Given the description of an element on the screen output the (x, y) to click on. 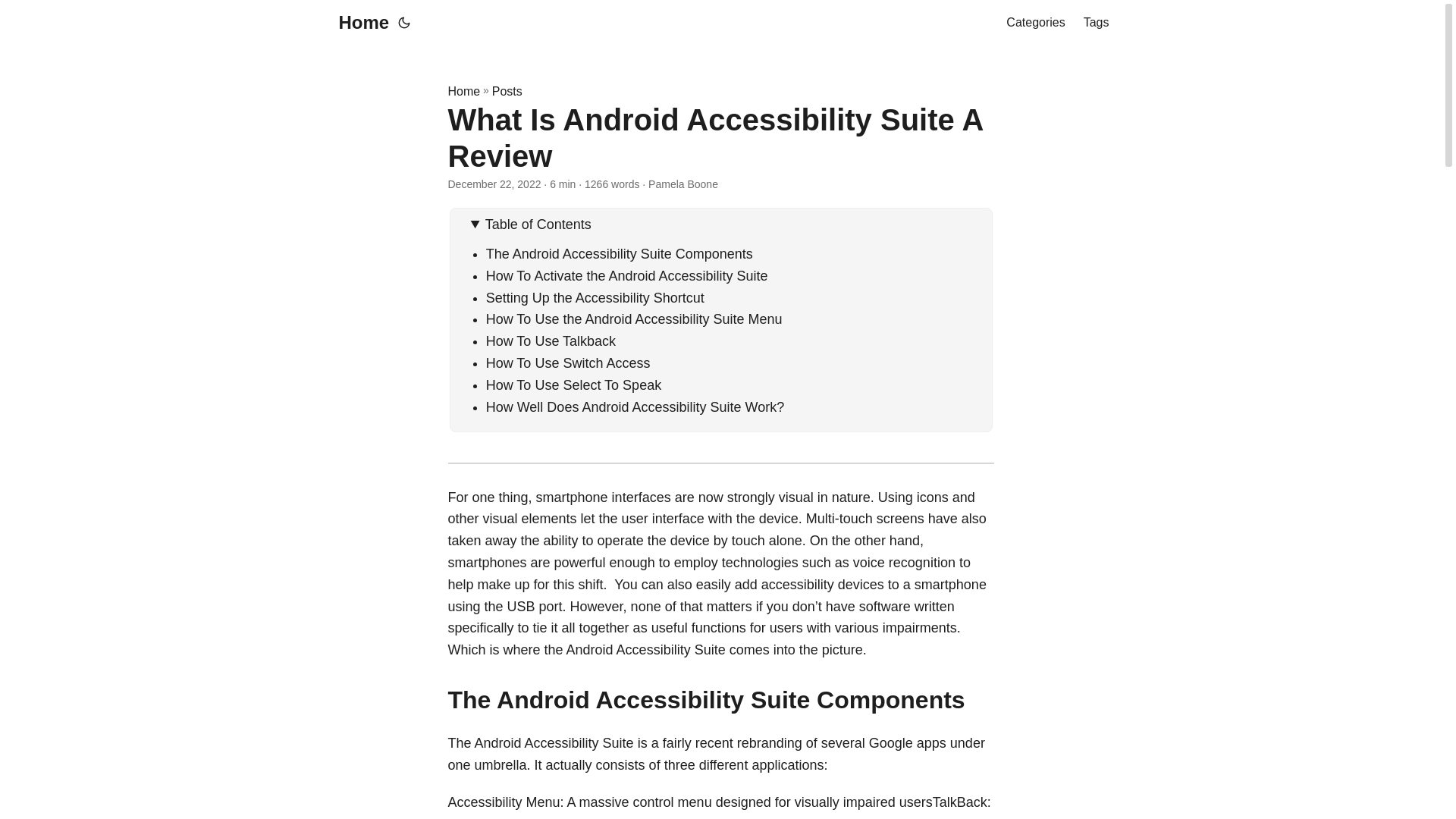
How To Use the Android Accessibility Suite Menu (634, 319)
How To Use Select To Speak (573, 385)
Home (359, 22)
Posts (507, 91)
How To Use Talkback (550, 340)
Setting Up the Accessibility Shortcut (595, 297)
How To Use Switch Access (568, 363)
Categories (1035, 22)
How To Activate the Android Accessibility Suite (627, 275)
Categories (1035, 22)
